Given the description of an element on the screen output the (x, y) to click on. 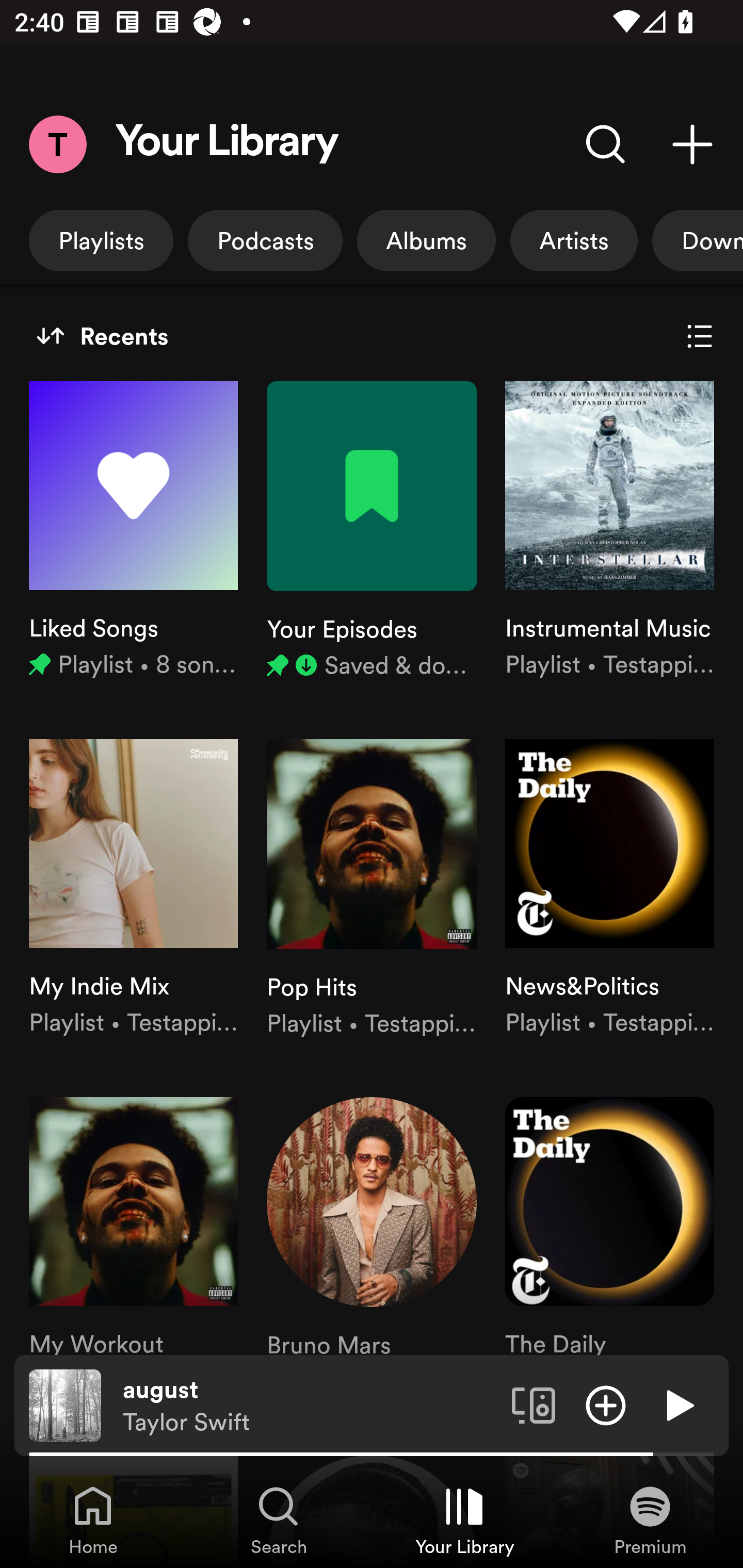
Menu (57, 144)
Search Your Library (605, 144)
Create playlist (692, 144)
Your Library Your Library Heading (226, 144)
Playlists, show only playlists. (100, 240)
Podcasts, show only podcasts. (264, 240)
Albums, show only albums. (426, 240)
Artists, show only artists. (573, 240)
Downloaded, show only downloaded. (697, 240)
Recents (101, 336)
Show List view (699, 336)
Bruno Mars, Artist,  Bruno Mars Artist (371, 1247)
august Taylor Swift (309, 1405)
The cover art of the currently playing track (64, 1404)
Connect to a device. Opens the devices menu (533, 1404)
Add item (605, 1404)
Play (677, 1404)
Home, Tab 1 of 4 Home Home (92, 1519)
Search, Tab 2 of 4 Search Search (278, 1519)
Your Library, Tab 3 of 4 Your Library Your Library (464, 1519)
Premium, Tab 4 of 4 Premium Premium (650, 1519)
